Given the description of an element on the screen output the (x, y) to click on. 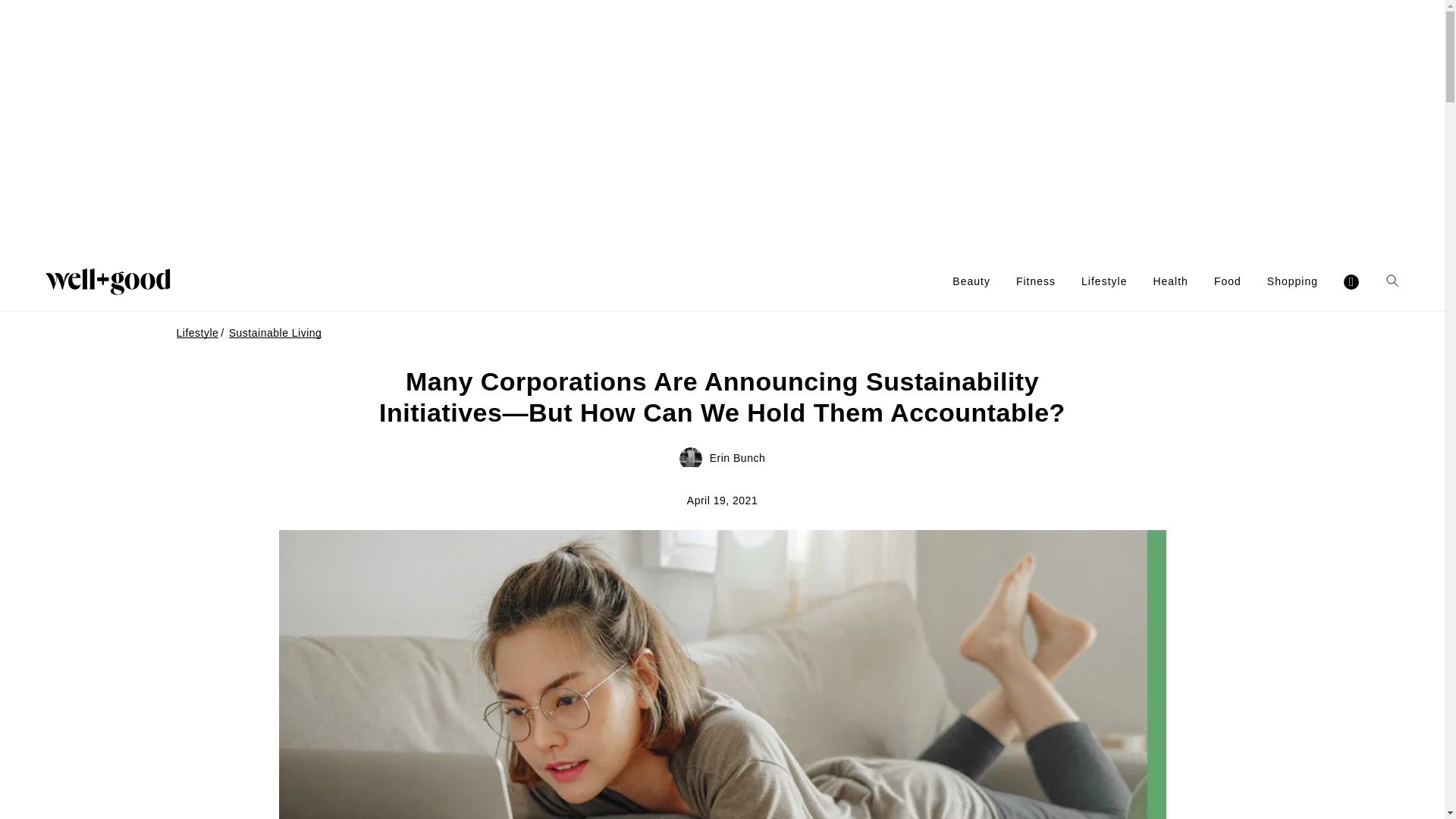
Lifestyle (1103, 281)
Shopping (1291, 281)
Health (1170, 281)
Beauty (971, 281)
Food (1227, 281)
Fitness (1035, 281)
